Given the description of an element on the screen output the (x, y) to click on. 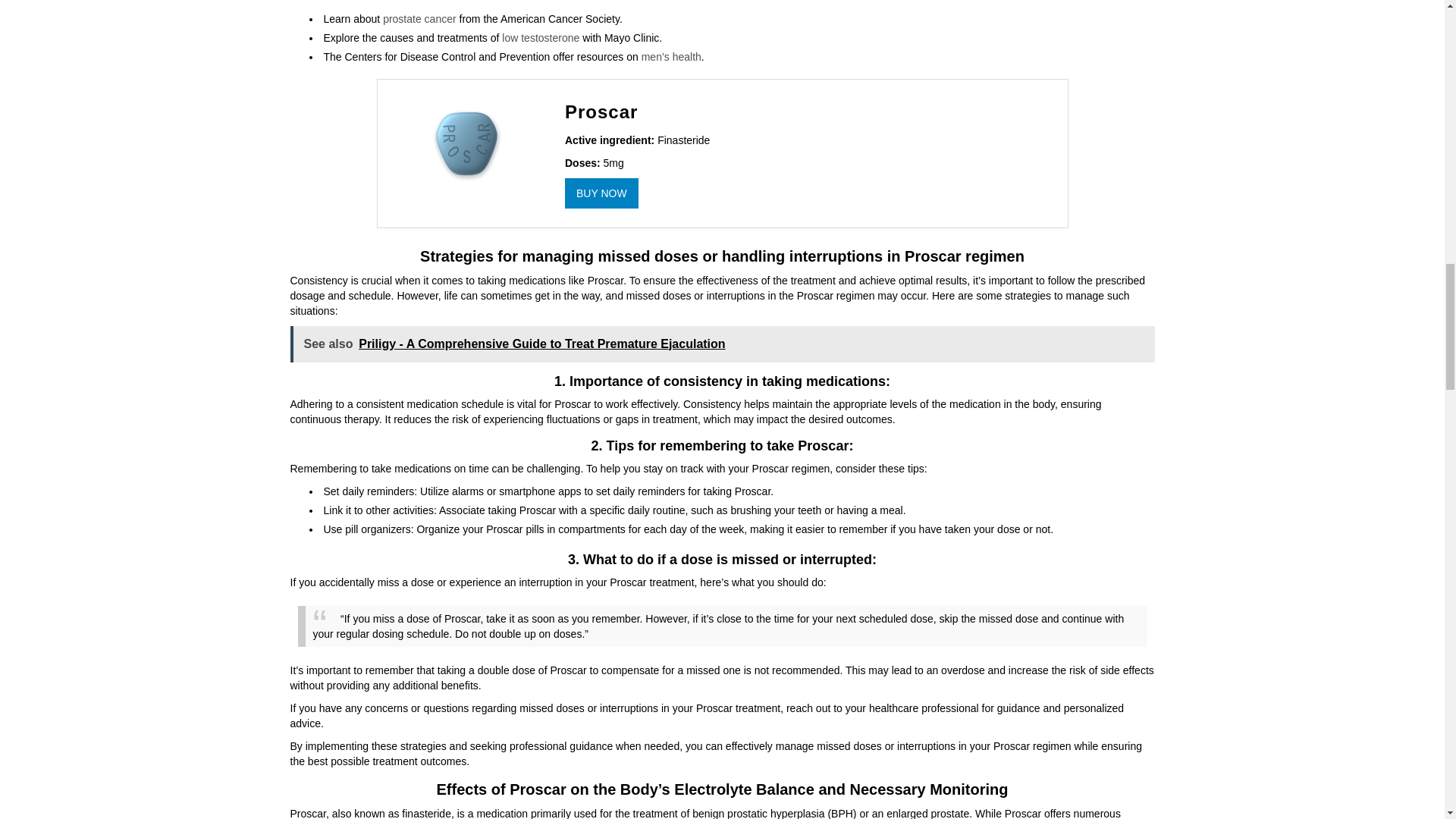
prostate cancer (419, 18)
low testosterone (540, 37)
Buy Now (601, 192)
BUY NOW (601, 192)
